Given the description of an element on the screen output the (x, y) to click on. 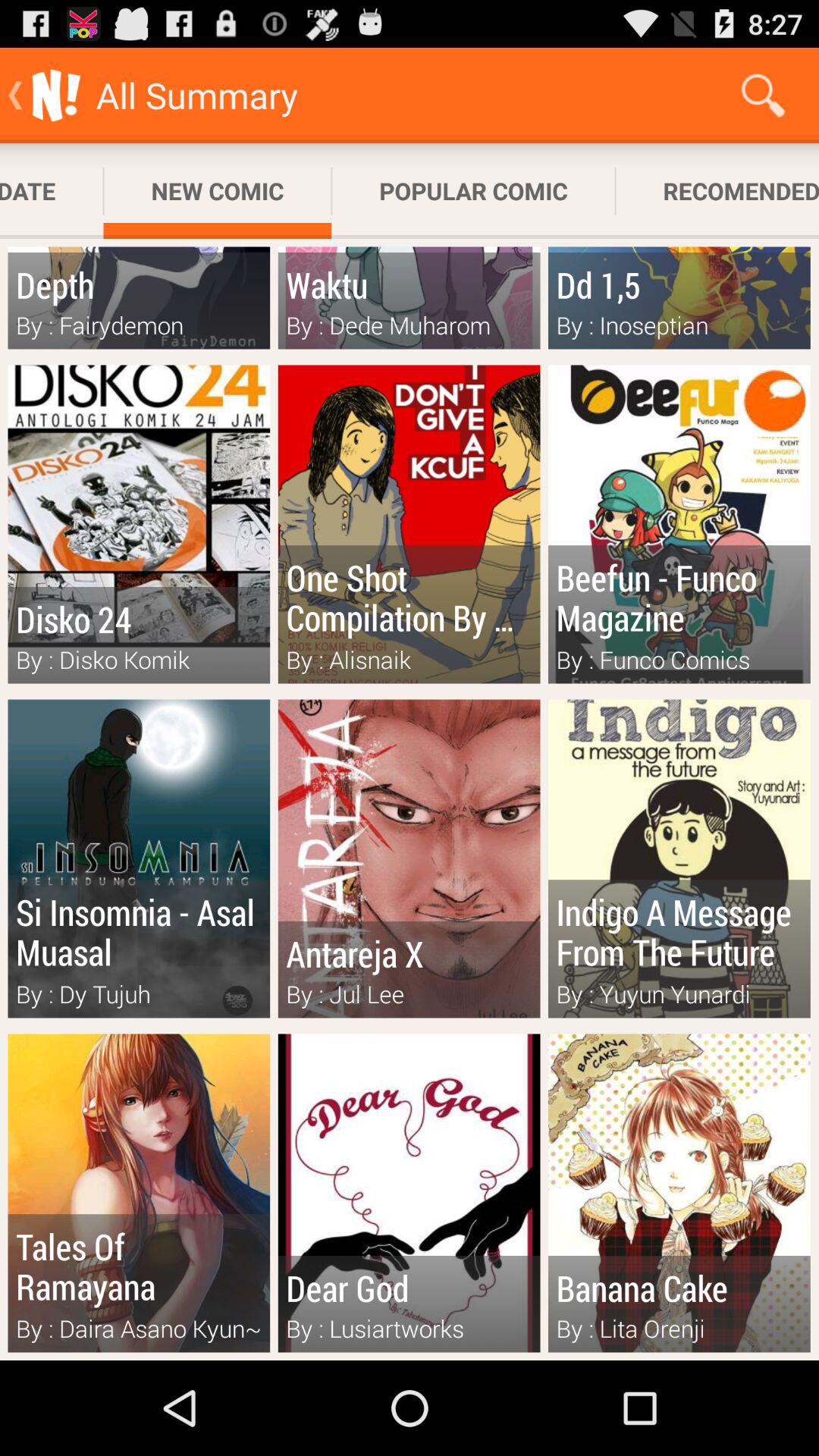
turn on the app to the right of the popular comic app (717, 190)
